Given the description of an element on the screen output the (x, y) to click on. 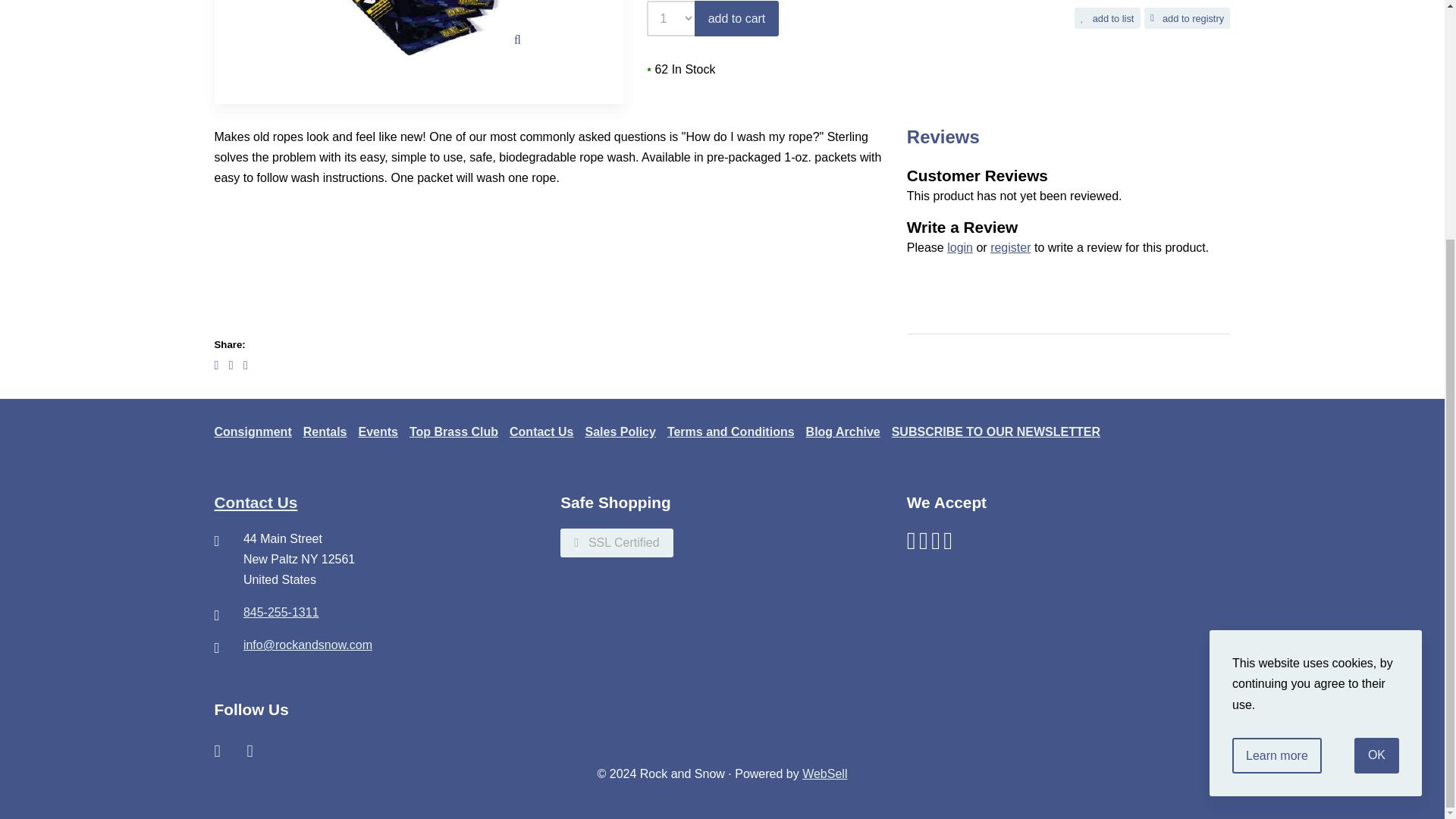
Wicked Good Rope Wash (418, 29)
Instagram Social Link (248, 748)
OK (1376, 426)
Facebook Social Link (216, 748)
